Given the description of an element on the screen output the (x, y) to click on. 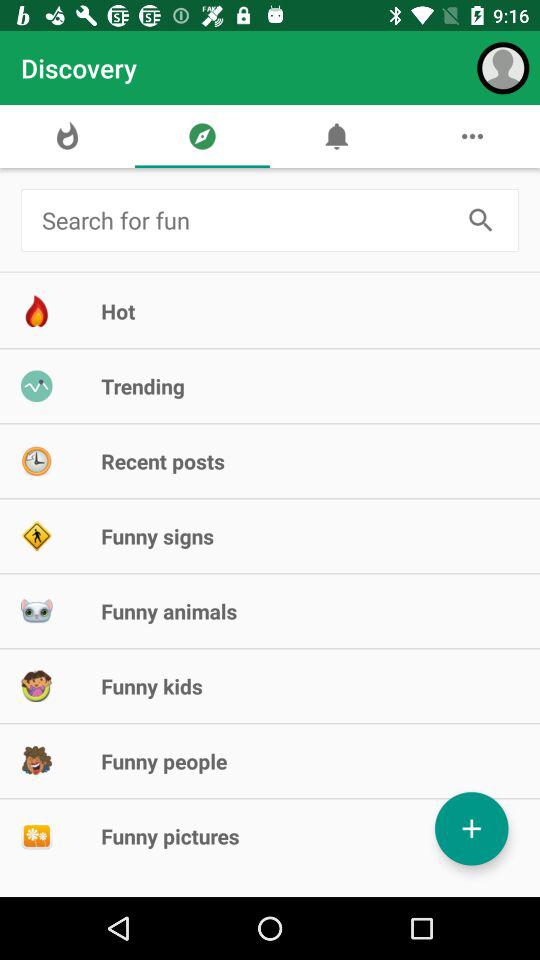
search app (480, 220)
